Given the description of an element on the screen output the (x, y) to click on. 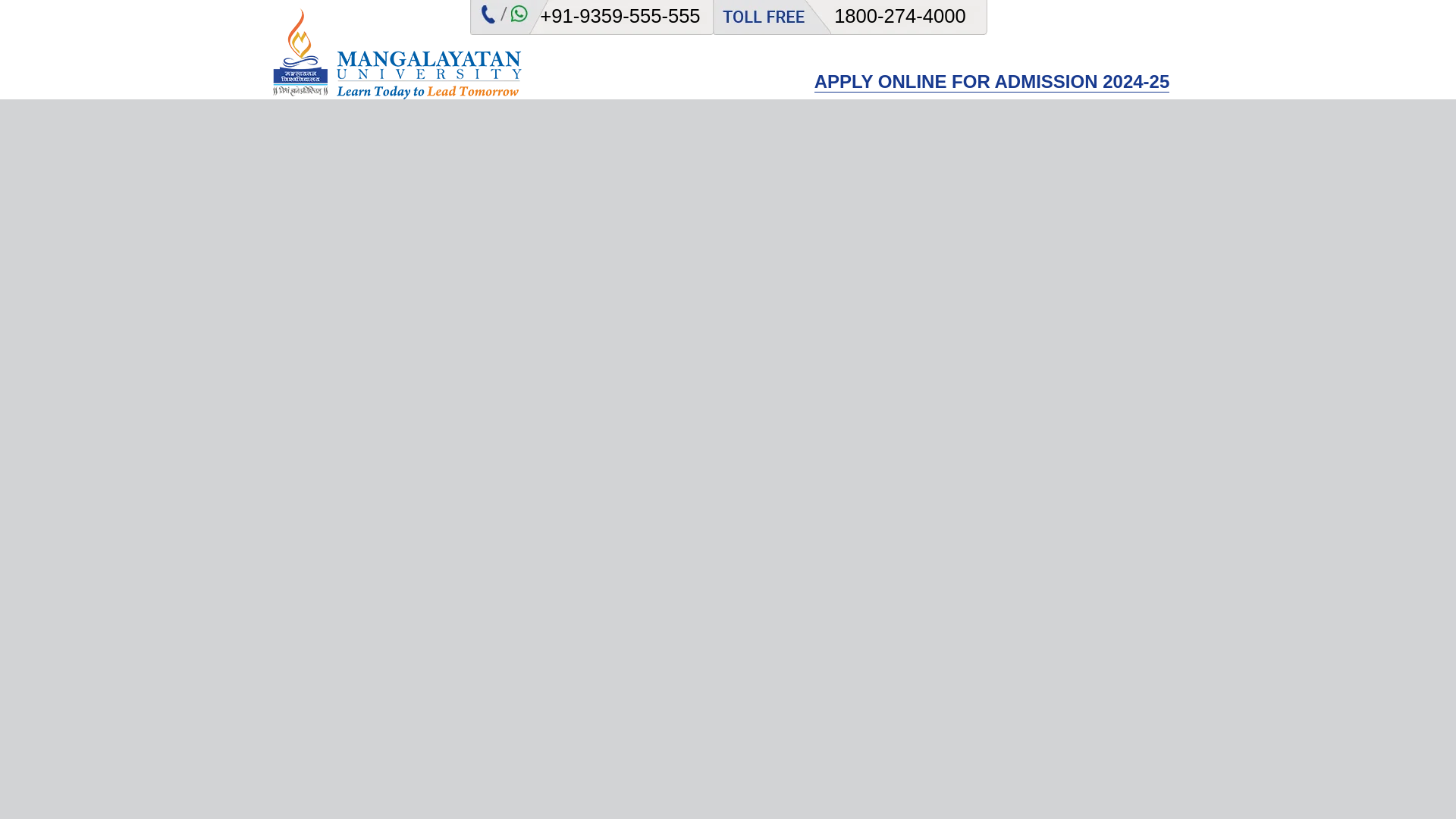
APPLY ONLINE FOR ADMISSION 2024-25 (991, 81)
